Given the description of an element on the screen output the (x, y) to click on. 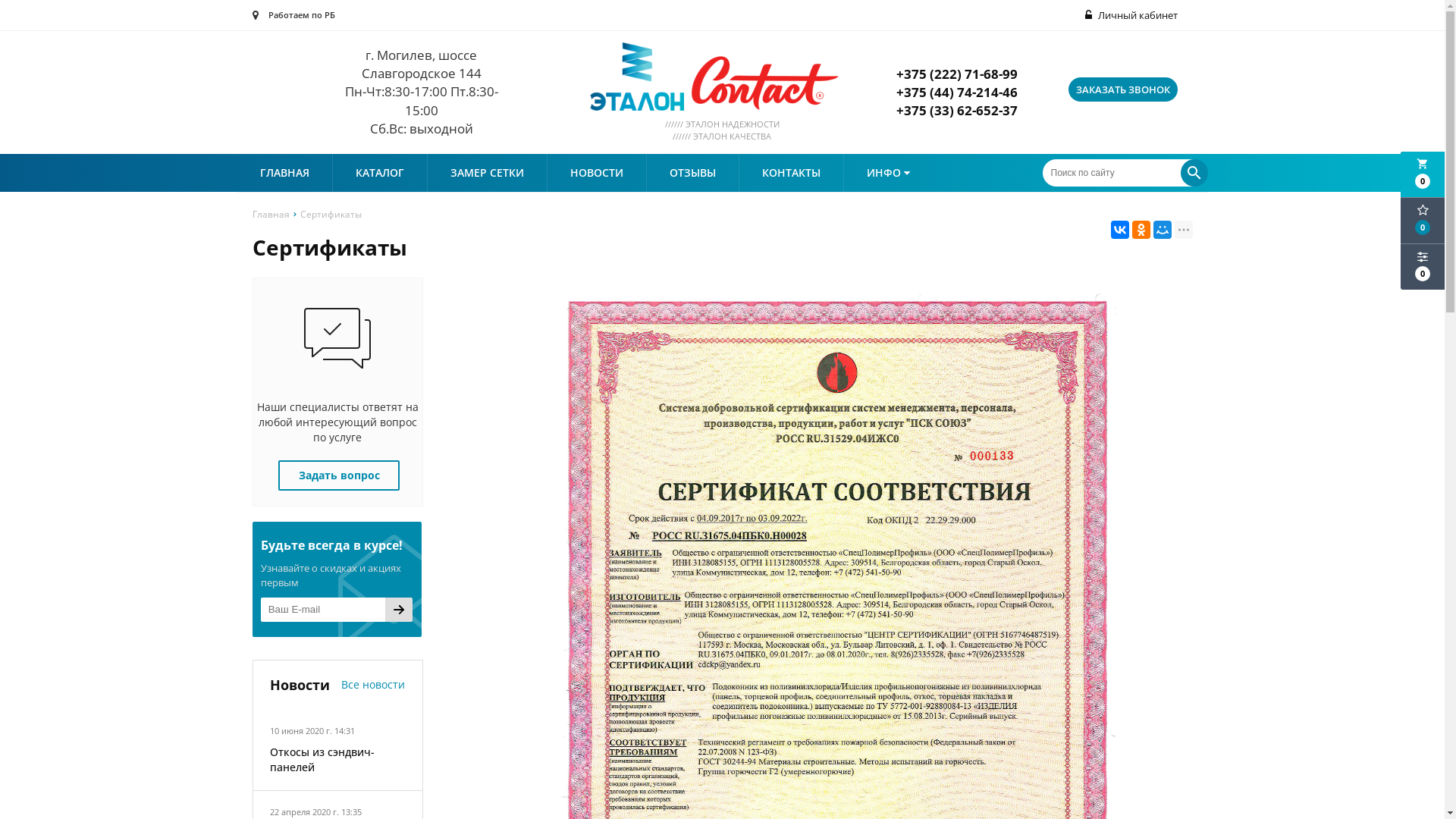
local_grocery_store
0 Element type: text (1422, 174)
+375 (222) 71-68-99 Element type: text (956, 74)
0 Element type: text (1422, 220)
search Element type: text (1193, 172)
+375 (33) 62-652-37 Element type: text (956, 110)
0 Element type: text (1422, 266)
+375 (44) 74-214-46 Element type: text (956, 92)
